Given the description of an element on the screen output the (x, y) to click on. 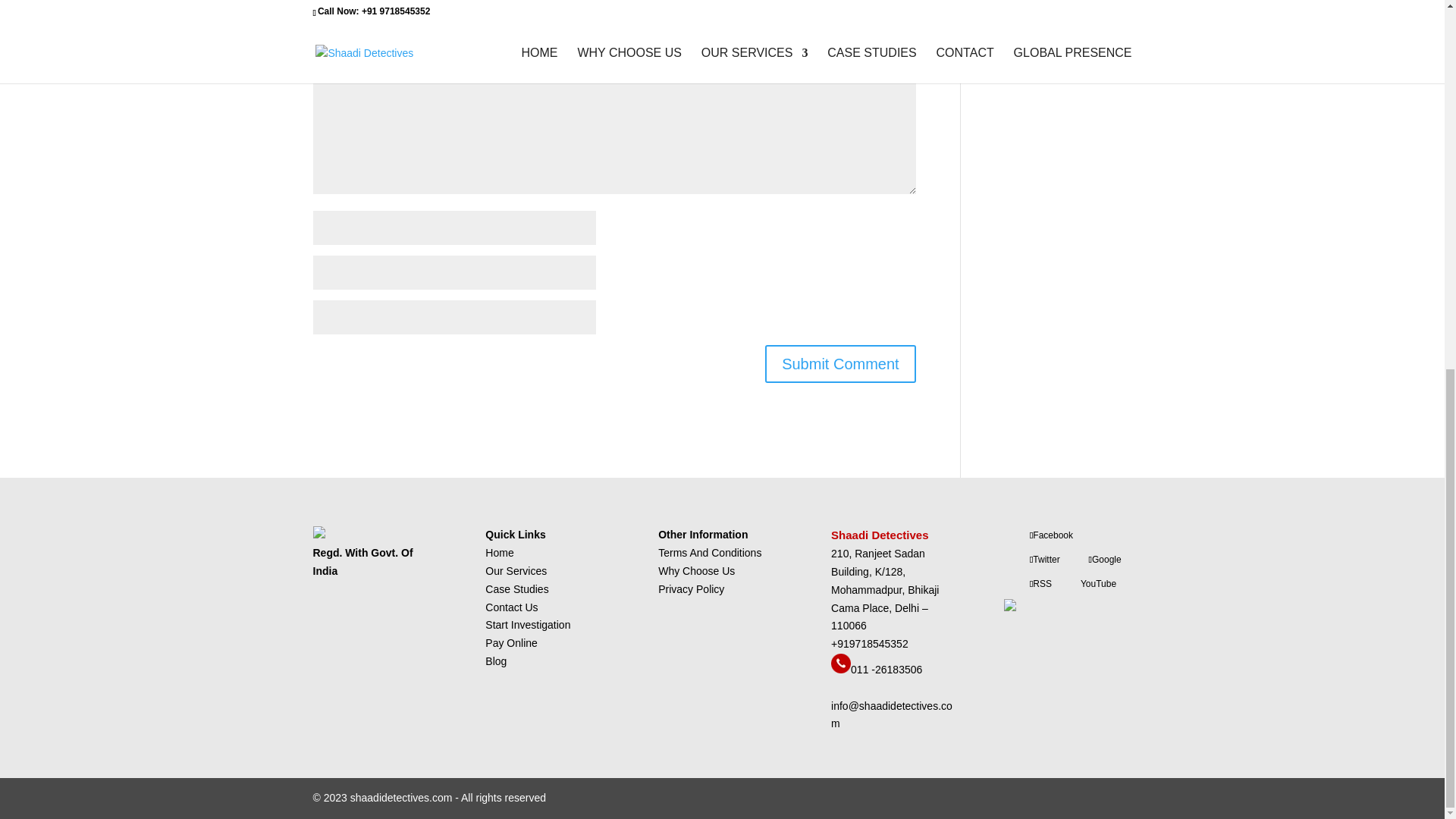
email (891, 715)
Submit Comment (840, 363)
Shaadi Detectives (881, 534)
Submit Comment (840, 363)
1800 3000 7005 (869, 644)
Contact (510, 607)
Case Studies (516, 589)
Start Investigation (527, 624)
011-26183506 (840, 669)
Our Services (515, 571)
